Given the description of an element on the screen output the (x, y) to click on. 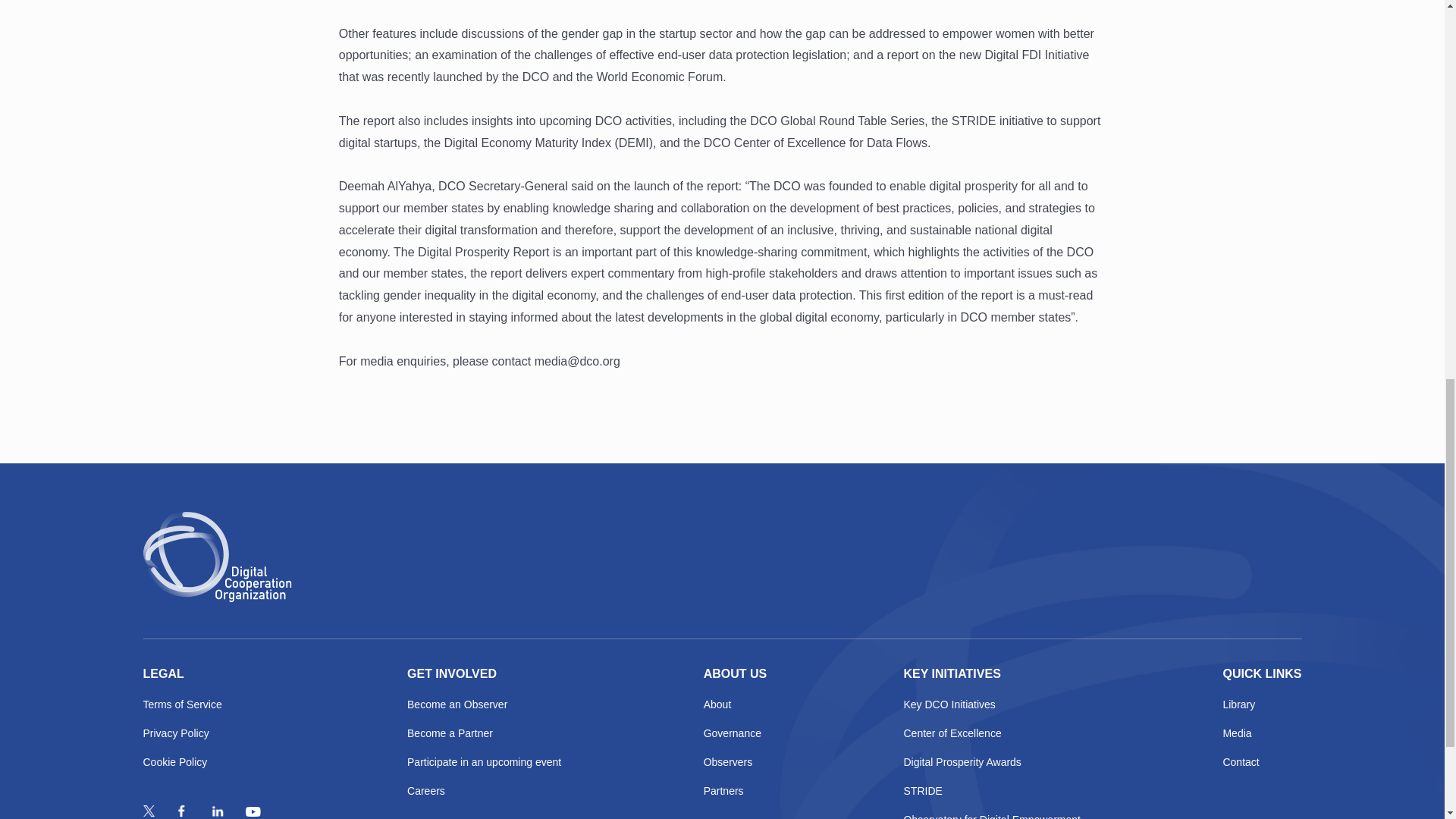
Privacy Policy (203, 733)
Terms of Service (203, 705)
